Given the description of an element on the screen output the (x, y) to click on. 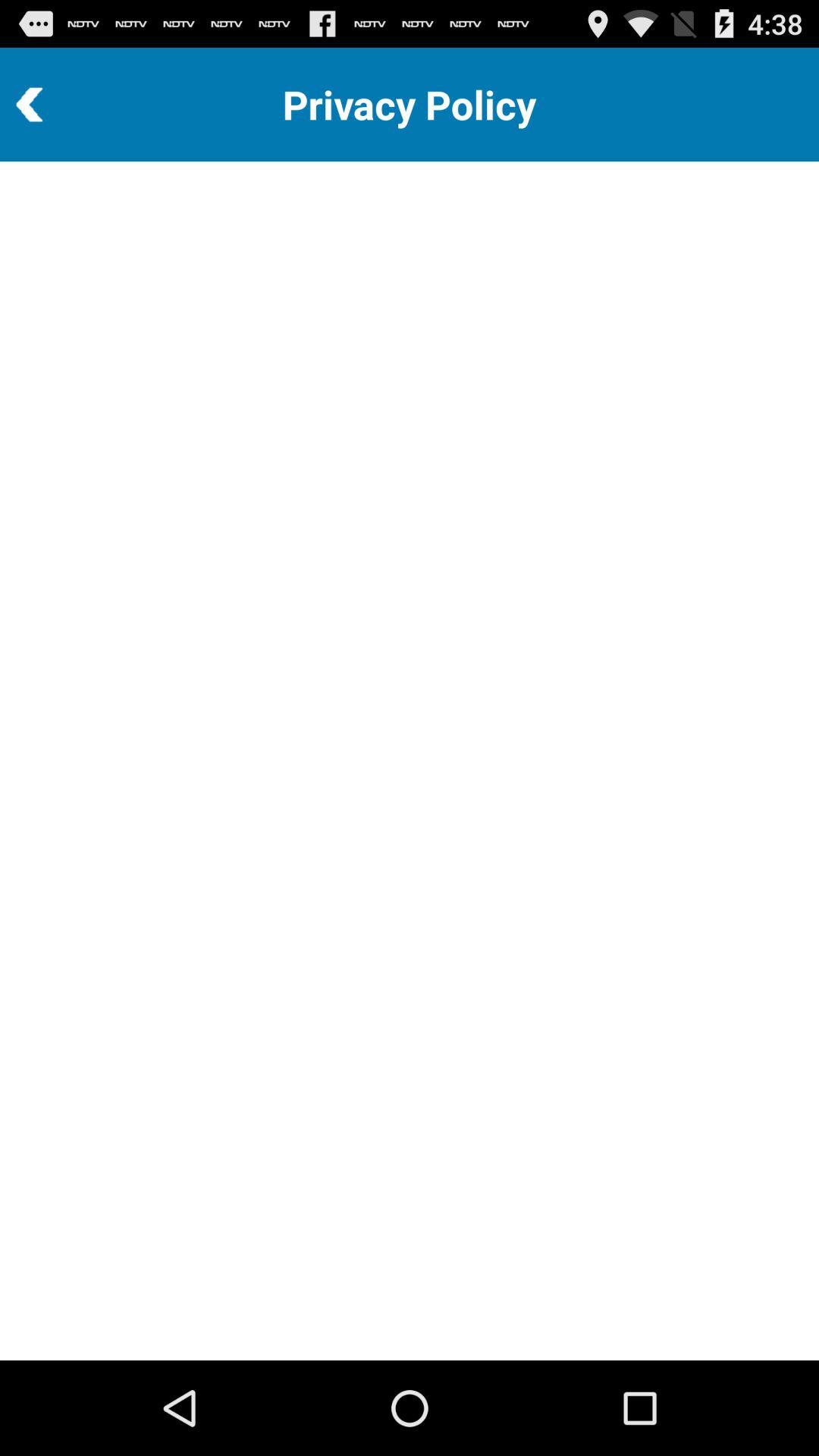
select the icon at the center (409, 760)
